Given the description of an element on the screen output the (x, y) to click on. 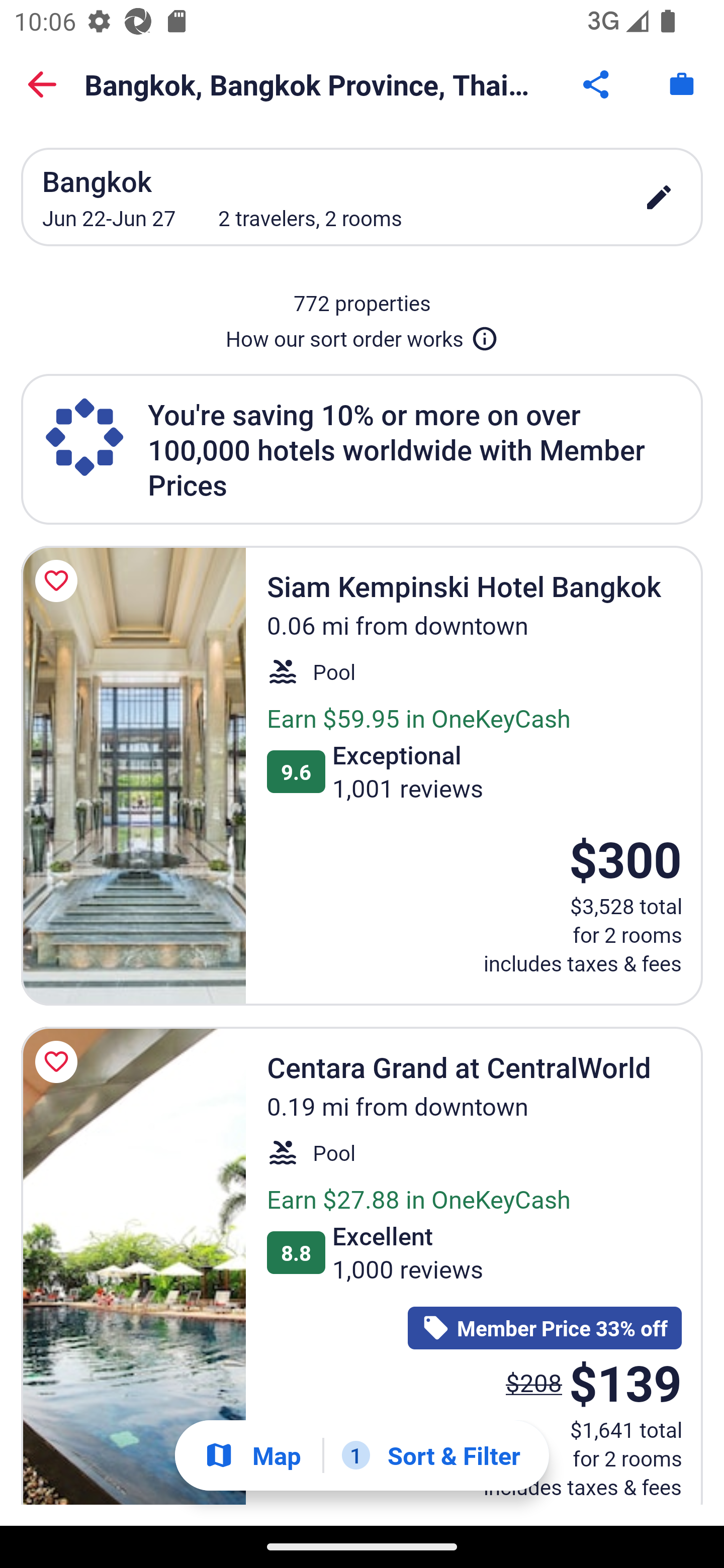
Back (42, 84)
Share Button (597, 84)
Trips. Button (681, 84)
Bangkok Jun 22-Jun 27 2 travelers, 2 rooms edit (361, 196)
How our sort order works (361, 334)
Save Siam Kempinski Hotel Bangkok to a trip (59, 580)
Siam Kempinski Hotel Bangkok (133, 775)
Save Centara Grand at CentralWorld to a trip (59, 1061)
Centara Grand at CentralWorld (133, 1266)
$208 The price was $208 (533, 1382)
1 Sort & Filter 1 Filter applied. Filters Button (430, 1455)
Show map Map Show map Button (252, 1455)
